Given the description of an element on the screen output the (x, y) to click on. 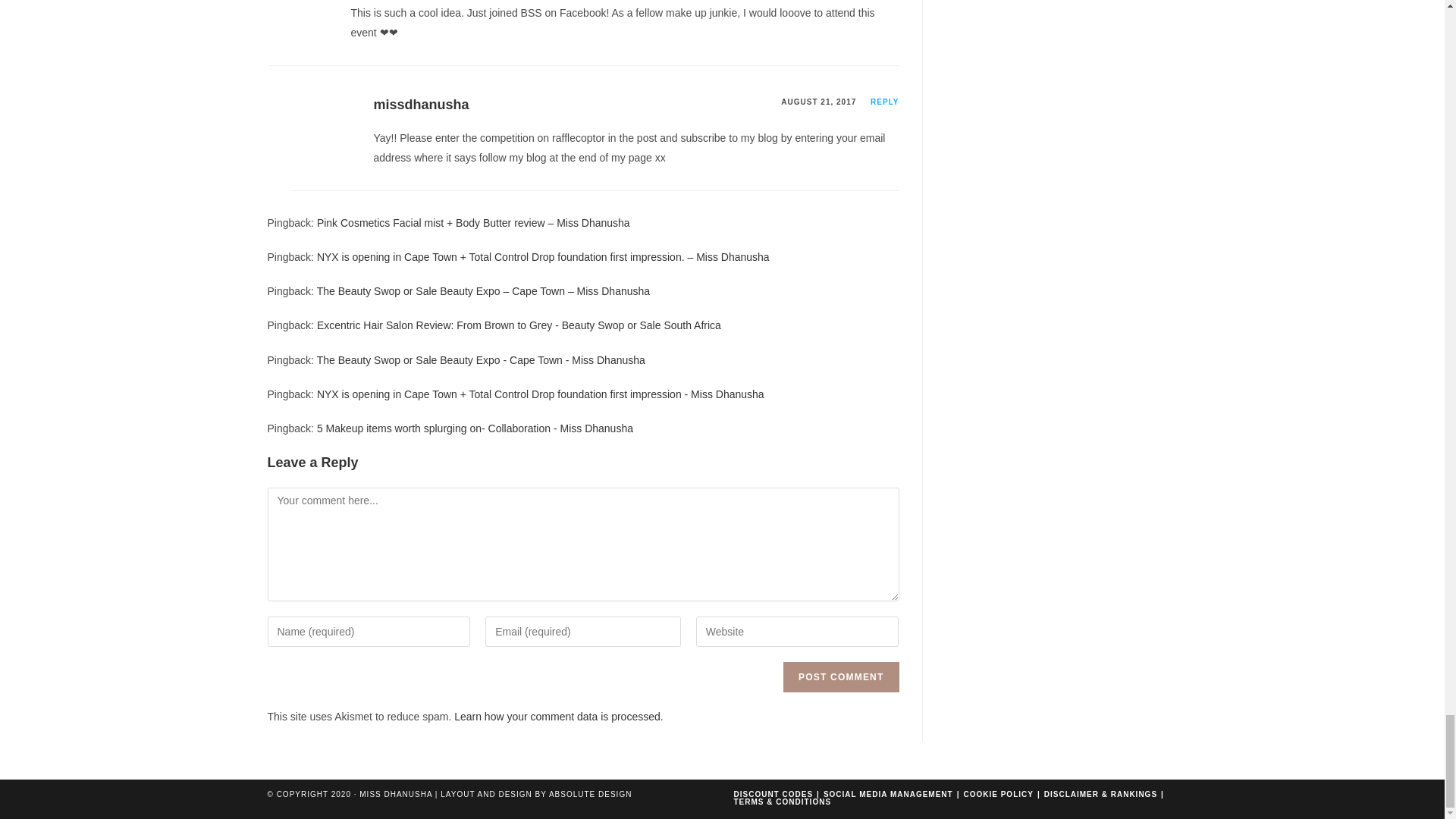
Post Comment (840, 676)
